Given the description of an element on the screen output the (x, y) to click on. 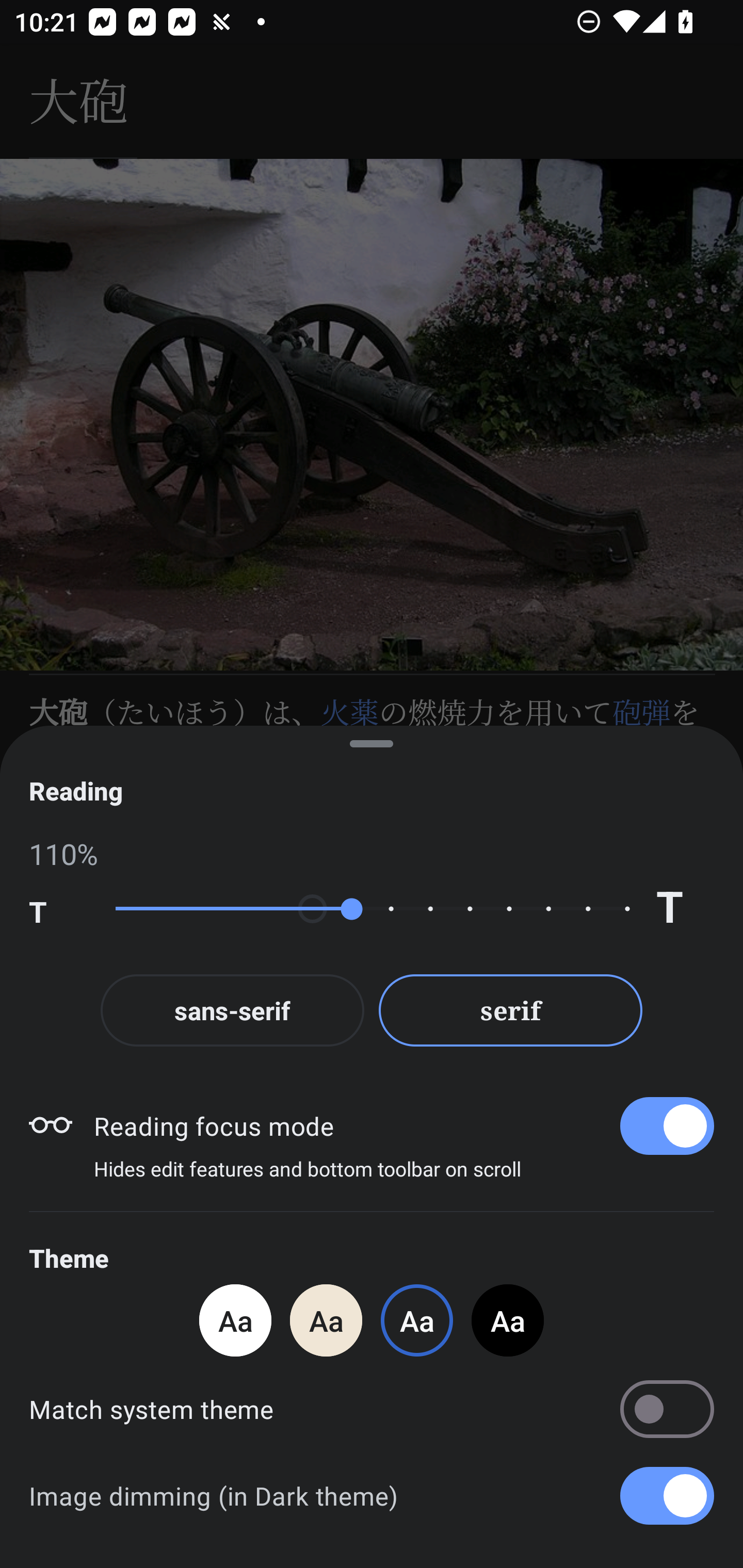
T Decrease text size (57, 909)
T Increase text size (685, 909)
sans-serif (232, 1010)
serif (510, 1010)
Reading focus mode (403, 1125)
Aa (235, 1320)
Aa (325, 1320)
Aa (507, 1320)
Match system theme (371, 1408)
Image dimming (in Dark theme) (371, 1495)
